Given the description of an element on the screen output the (x, y) to click on. 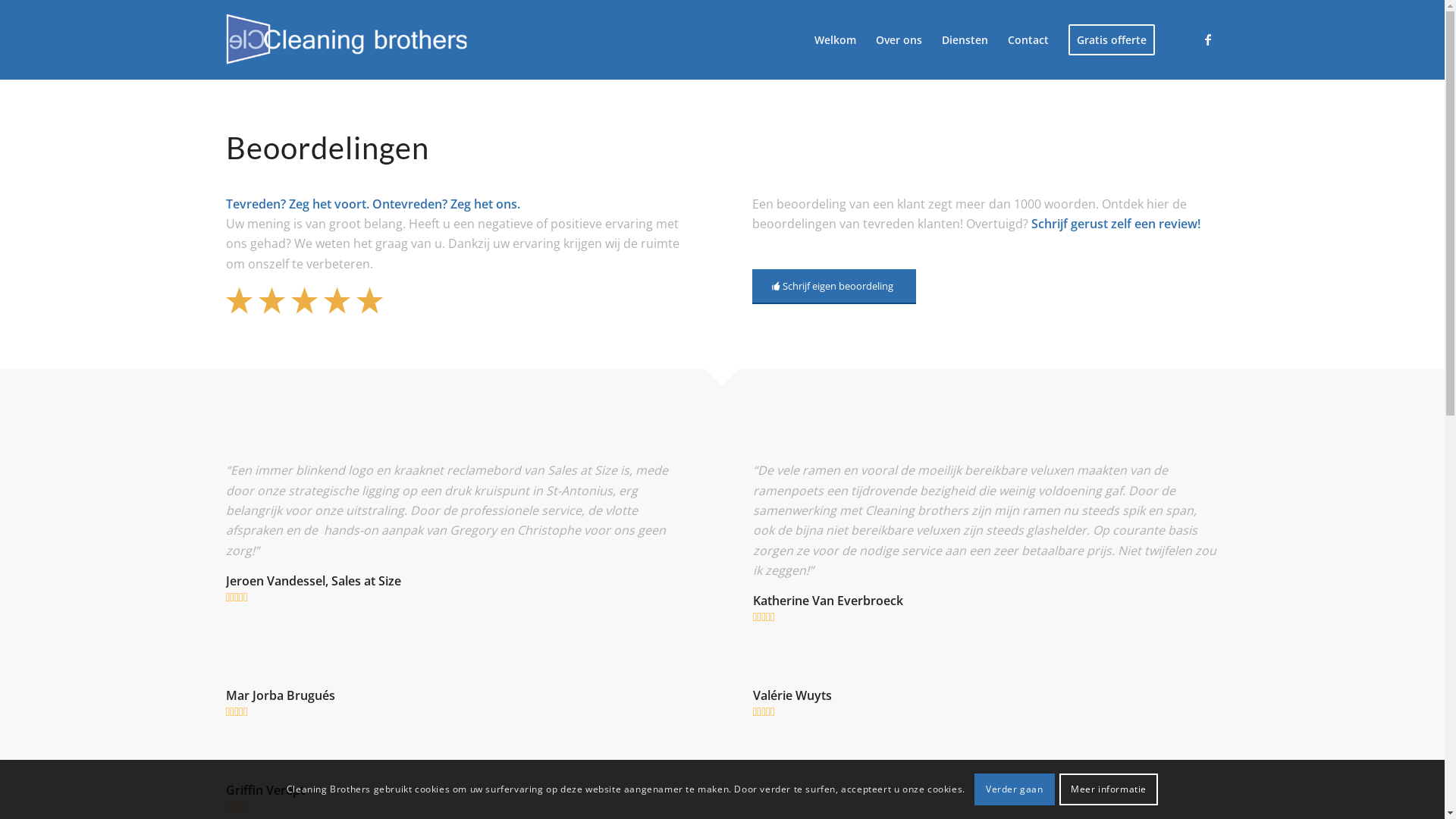
Cleaning Brothers Logo Transparant Element type: hover (346, 39)
Contact Element type: text (1027, 39)
Gratis offerte Element type: text (1111, 39)
Verder gaan Element type: text (1014, 789)
Meer informatie Element type: text (1108, 789)
Schrijf eigen beoordeling Element type: text (834, 286)
Welkom Element type: text (834, 39)
Facebook Element type: hover (1207, 38)
Diensten Element type: text (964, 39)
Over ons Element type: text (898, 39)
